Given the description of an element on the screen output the (x, y) to click on. 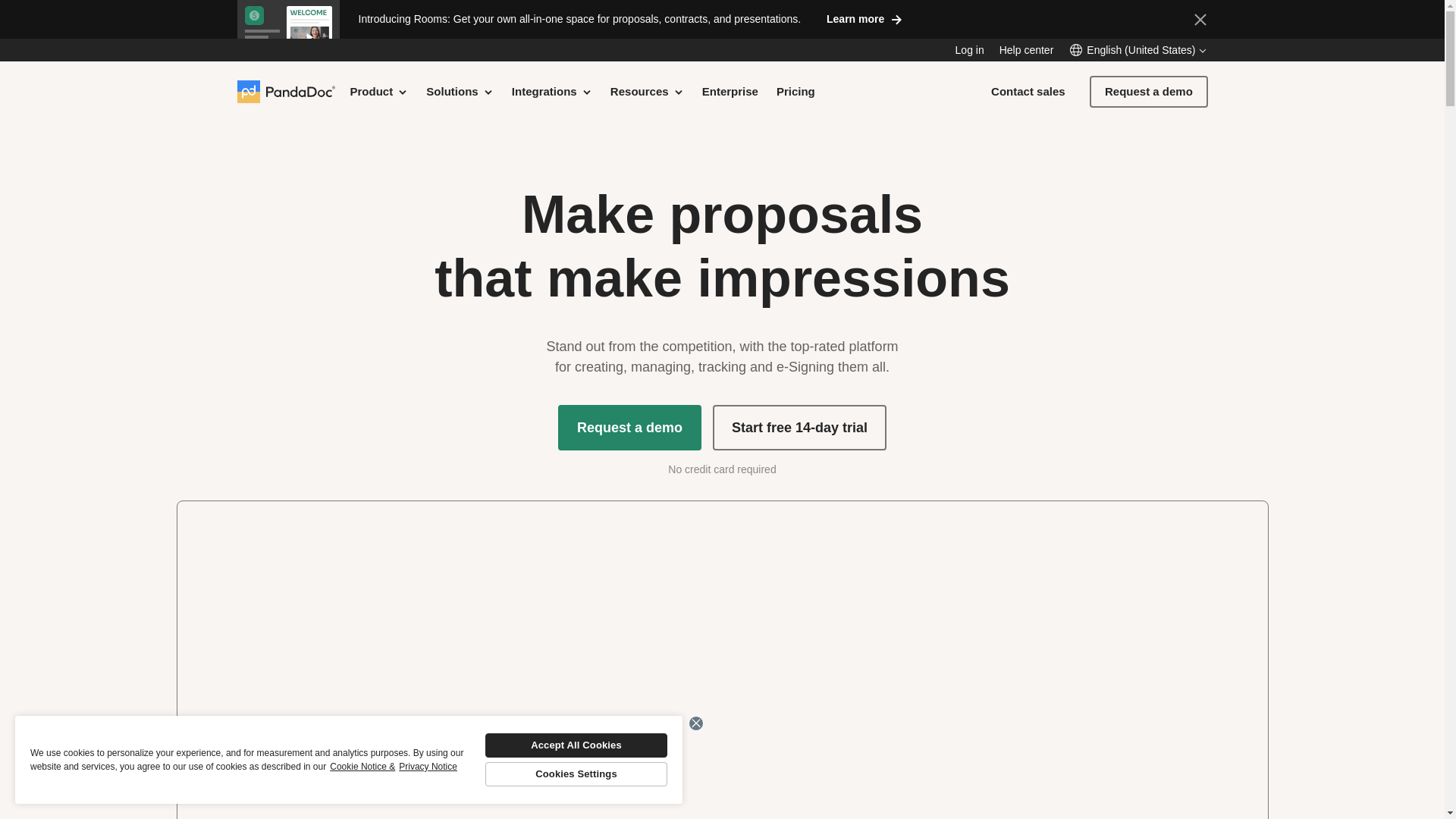
Learn more (864, 18)
Product (379, 91)
Solutions (459, 91)
Help center (1026, 50)
Log in (969, 50)
